Given the description of an element on the screen output the (x, y) to click on. 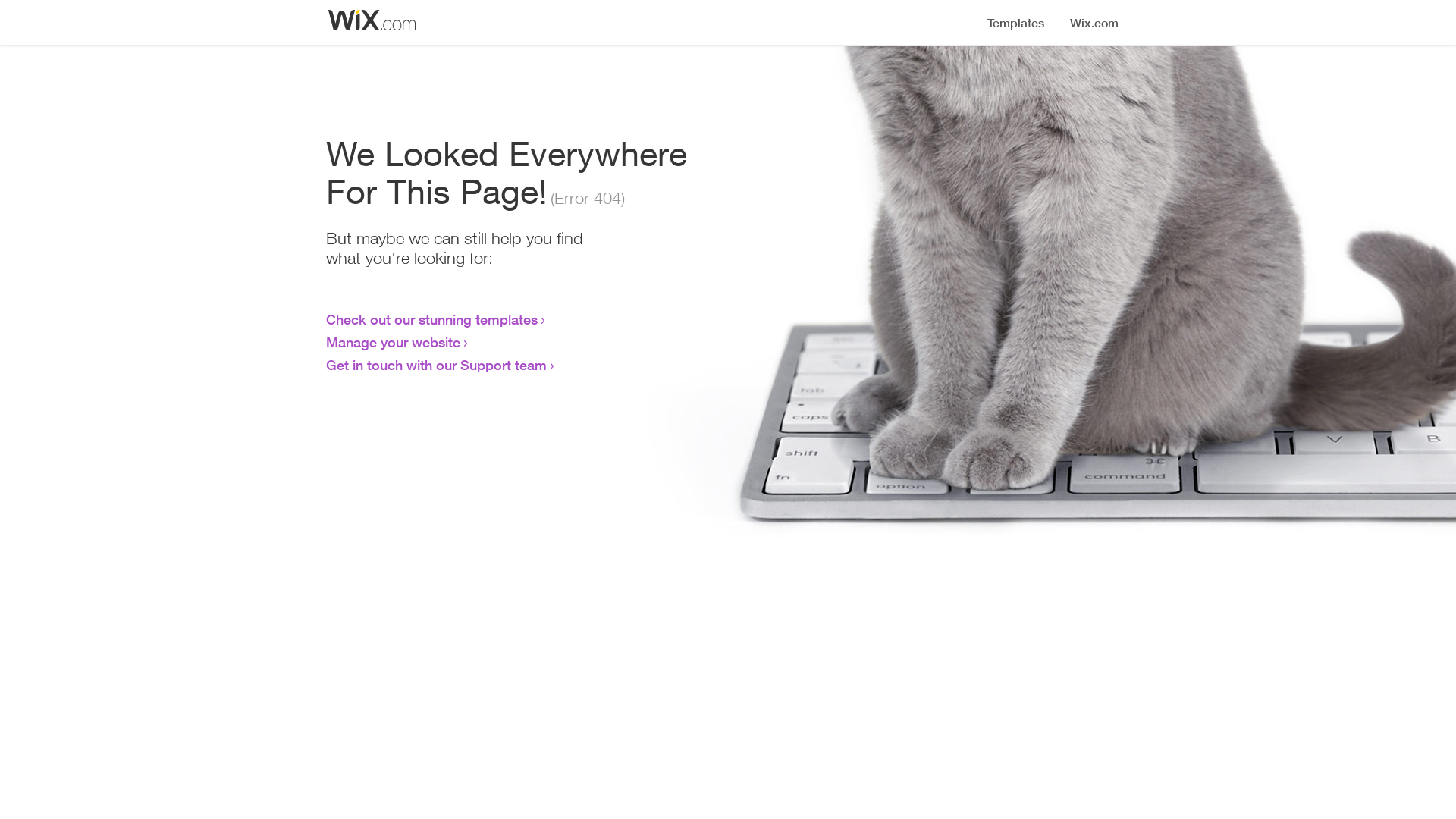
Get in touch with our Support team Element type: text (436, 364)
Check out our stunning templates Element type: text (431, 318)
Manage your website Element type: text (393, 341)
